Given the description of an element on the screen output the (x, y) to click on. 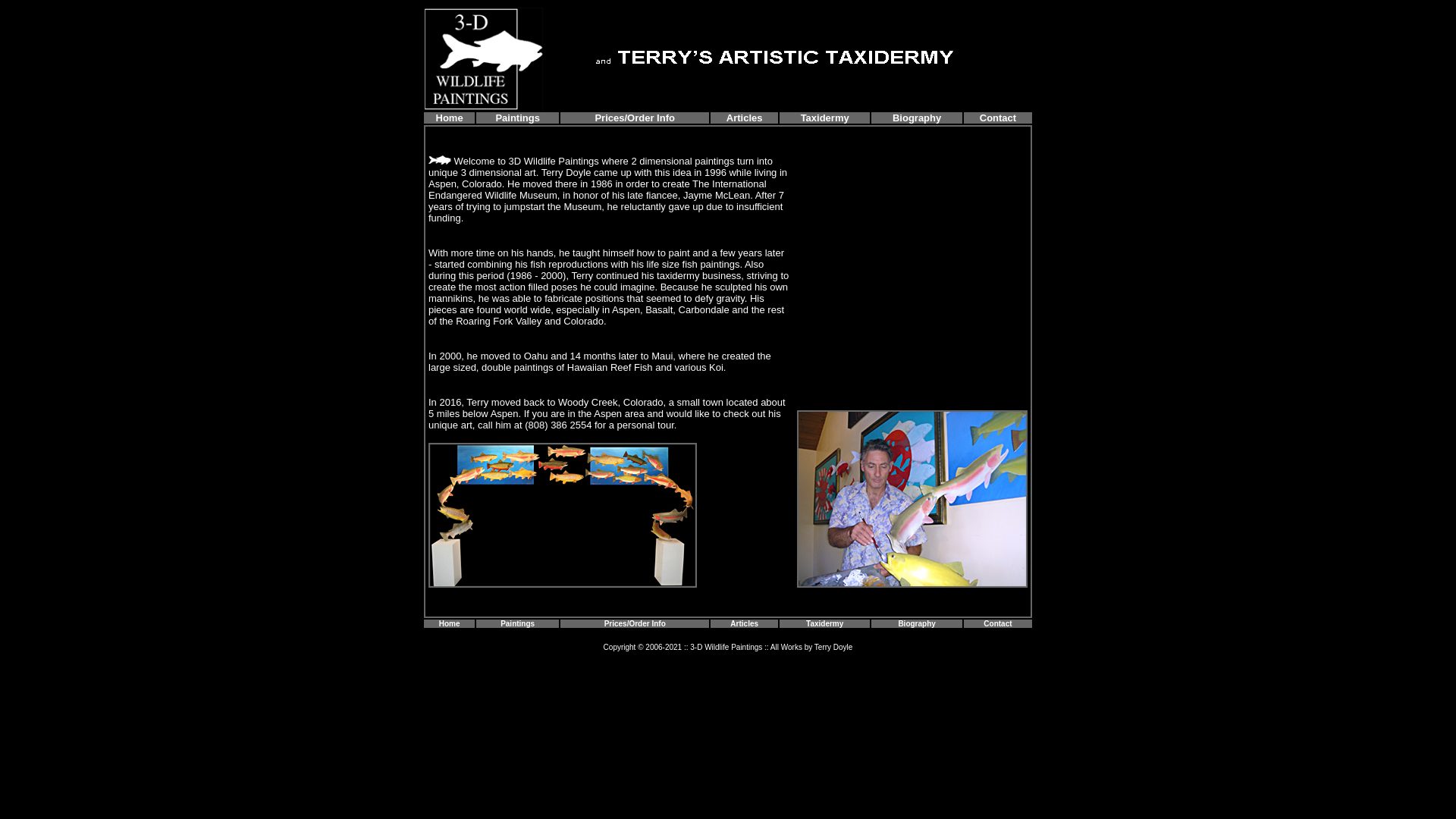
Biography Element type: text (916, 117)
Articles Element type: text (744, 117)
Prices/Order Info Element type: text (634, 622)
Taxidermy Element type: text (824, 621)
Home Element type: text (449, 621)
Biography Element type: text (916, 623)
Contact Element type: text (997, 621)
Prices/Order Info Element type: text (634, 117)
Taxidermy Element type: text (824, 116)
Paintings Element type: text (517, 116)
Home Element type: text (449, 116)
Paintings Element type: text (517, 621)
Articles Element type: text (744, 623)
Contact Element type: text (997, 116)
